Given the description of an element on the screen output the (x, y) to click on. 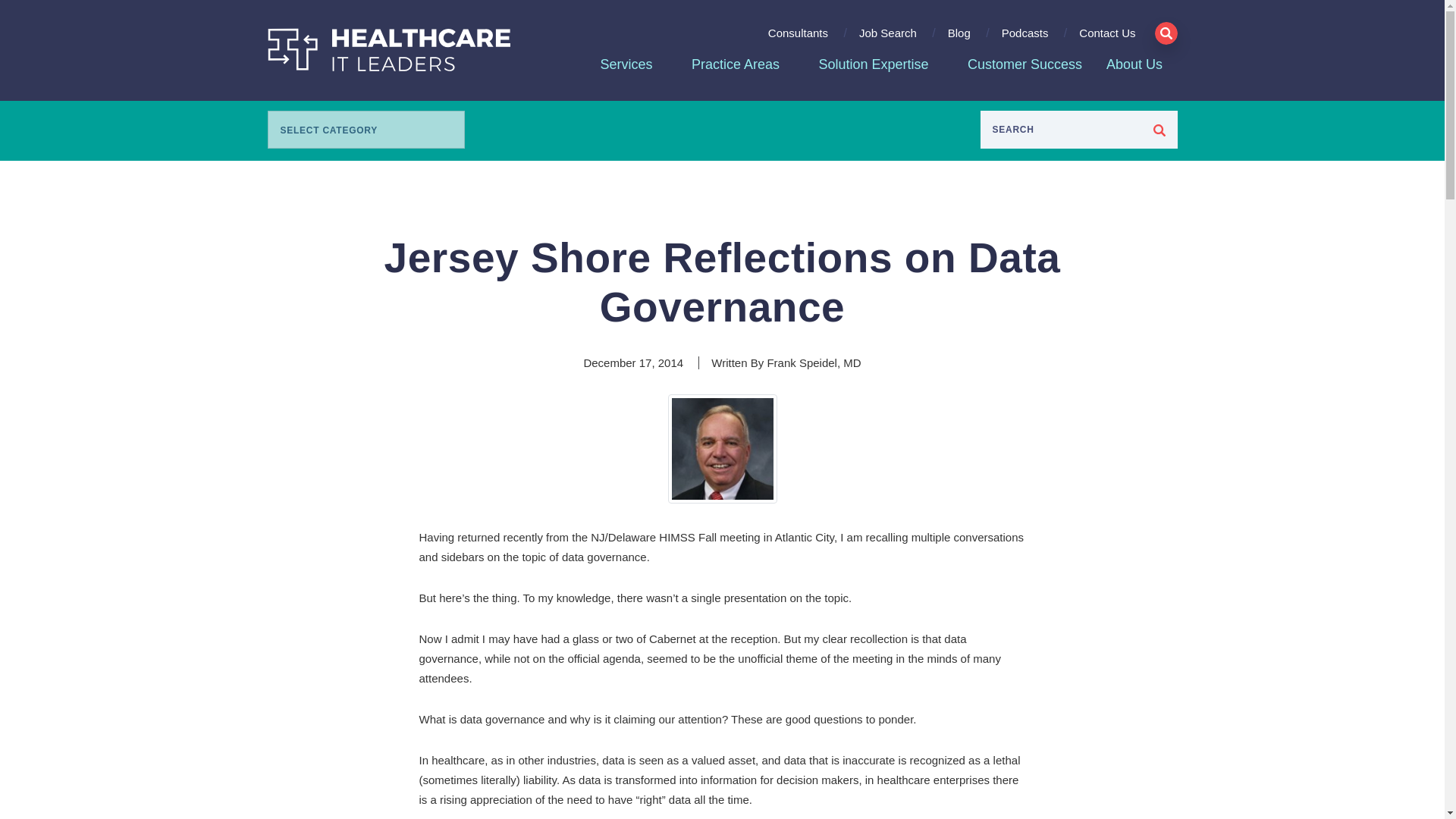
Healthcare IT Leaders (387, 49)
Services (625, 65)
Open Search (1165, 33)
Podcasts (1025, 39)
Consultants (797, 39)
Solution Expertise (873, 65)
Contact Us (1101, 39)
Job Search (887, 39)
Practice Areas (734, 65)
Blog (959, 39)
